Given the description of an element on the screen output the (x, y) to click on. 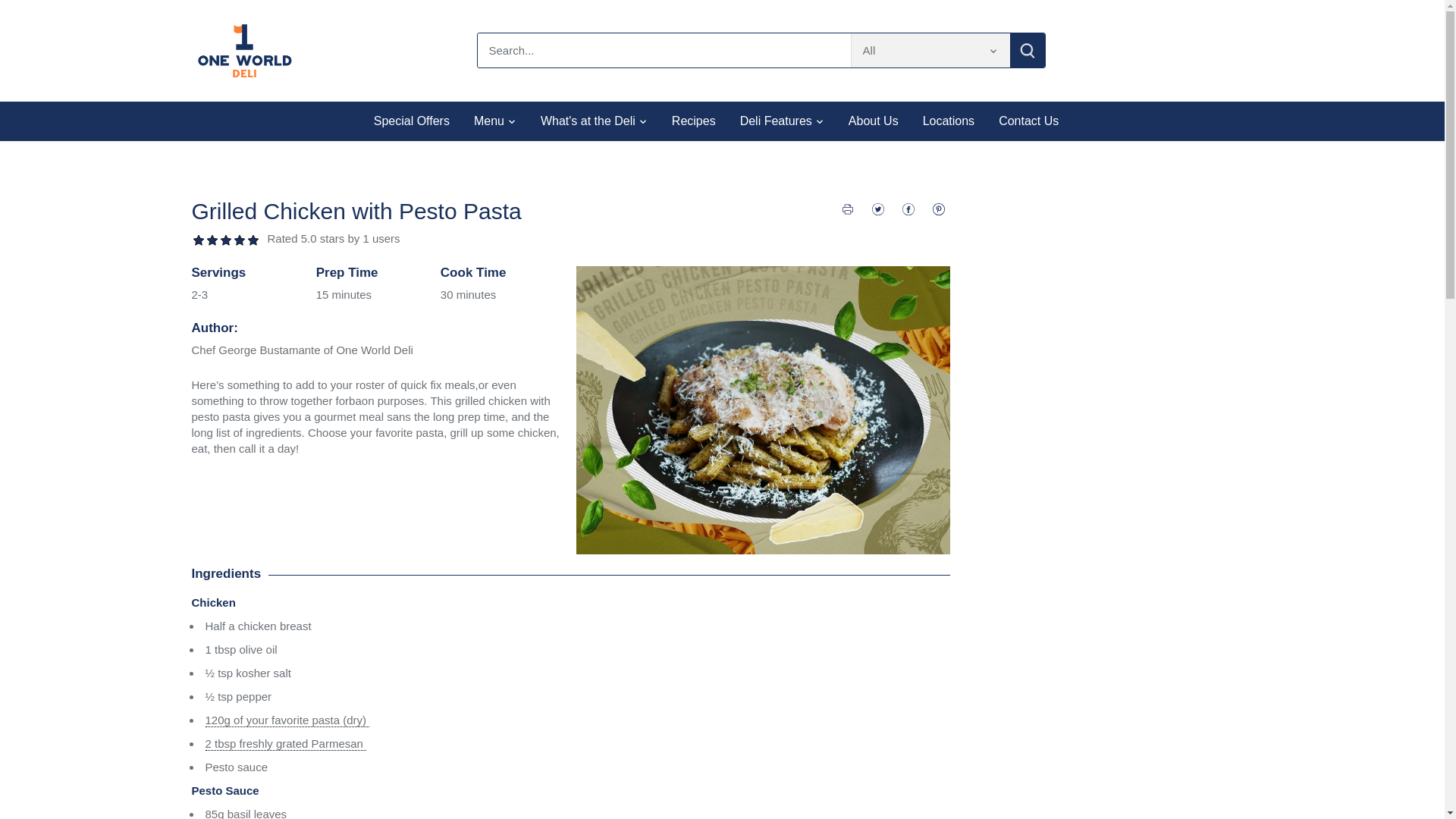
Menu (488, 121)
What's at the Deli (587, 121)
Special Offers (417, 121)
